Given the description of an element on the screen output the (x, y) to click on. 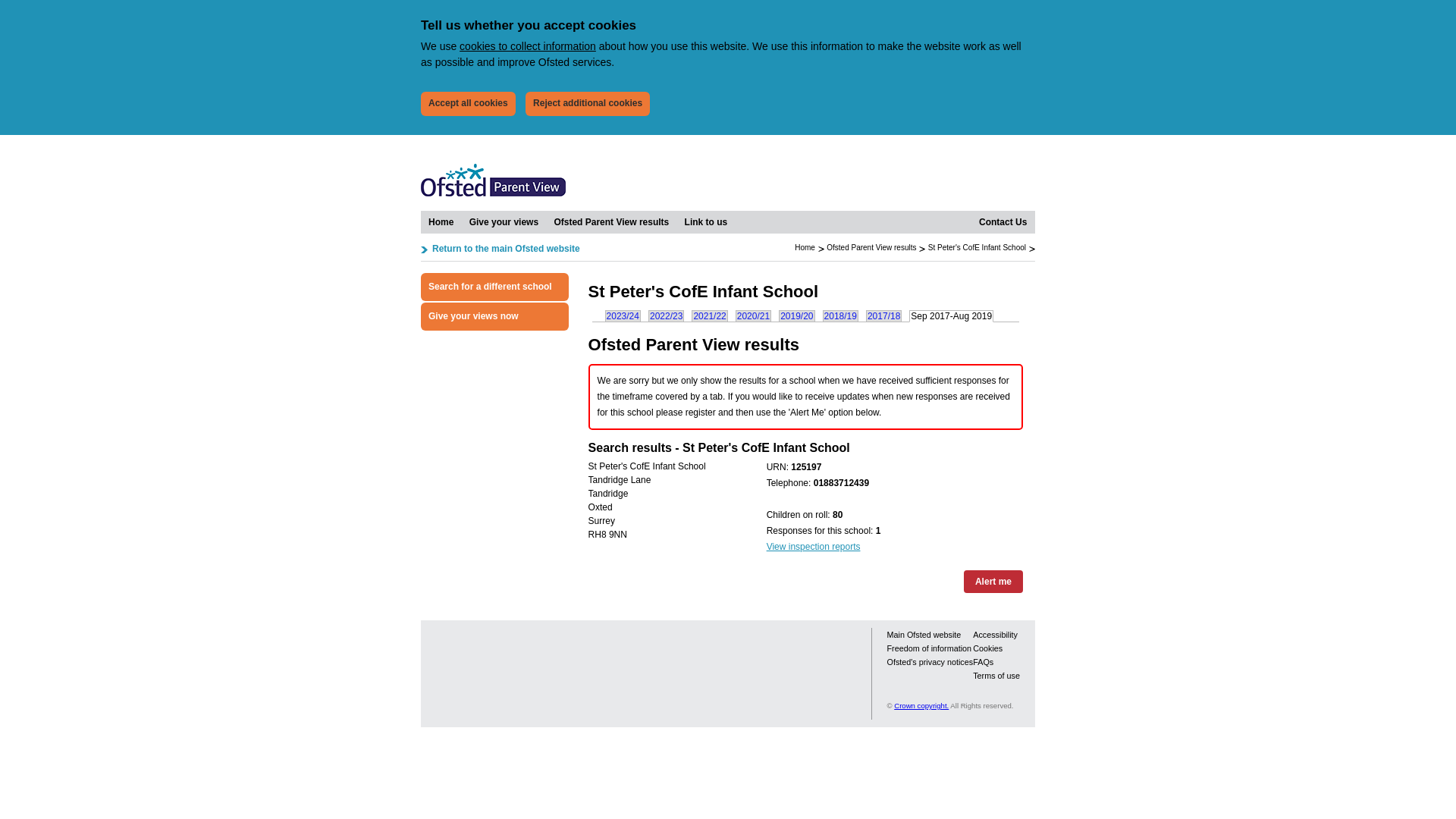
Ofsted's privacy notices (930, 661)
Give your views (503, 221)
Give your views (503, 221)
cookies to collect information (527, 46)
Home (440, 221)
Ofsted's privacy notices (930, 661)
Accessibility (994, 634)
Cookies (987, 647)
View inspection reports (813, 546)
Terms of use (996, 675)
Crown copyright. (921, 705)
Ofsted Parent View results (611, 221)
Ofsted Parent View results (871, 247)
Reject additional cookies (587, 103)
FAQs (982, 661)
